Given the description of an element on the screen output the (x, y) to click on. 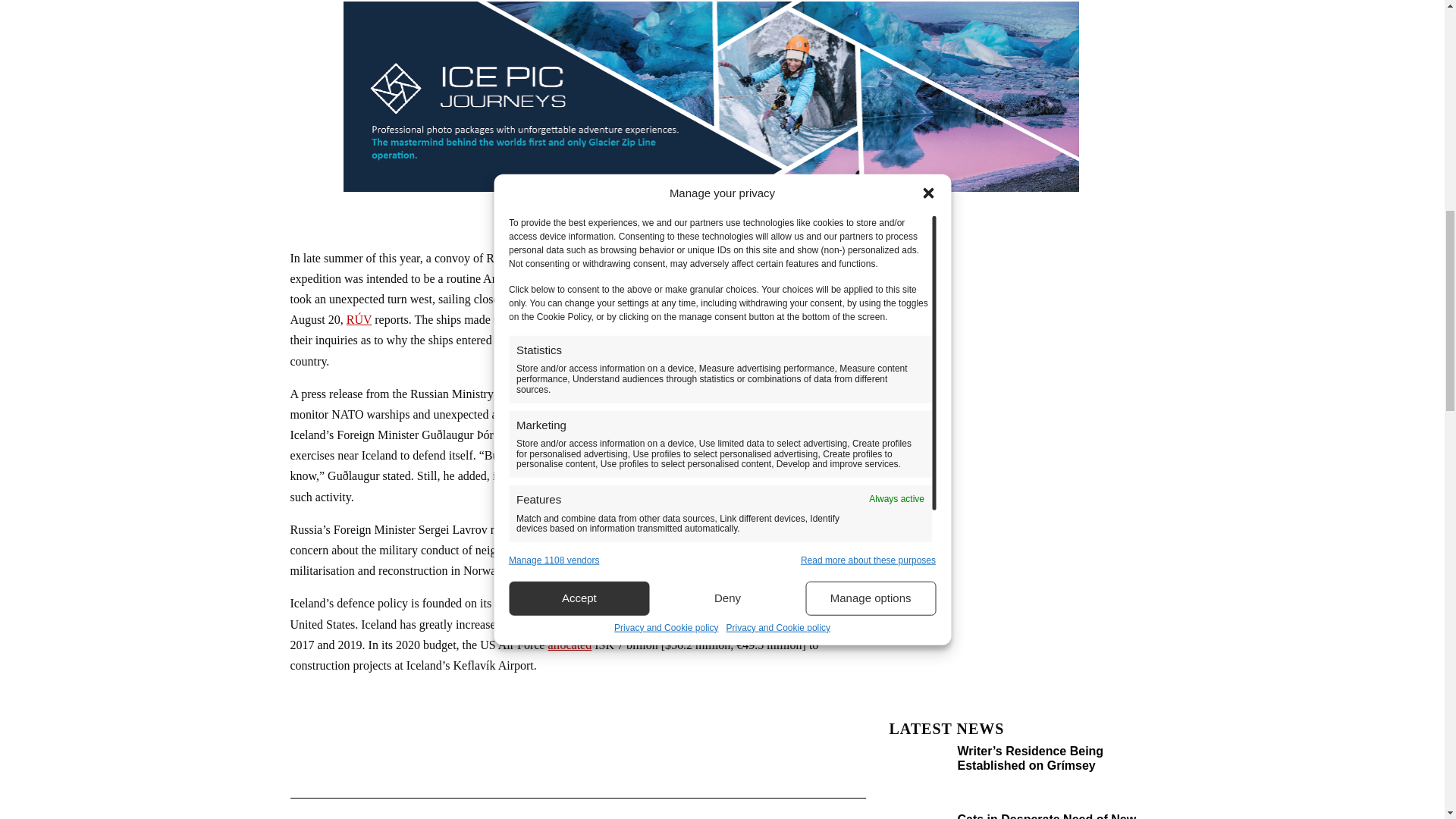
Cats in Desperate Need of New Homes (1045, 816)
